Given the description of an element on the screen output the (x, y) to click on. 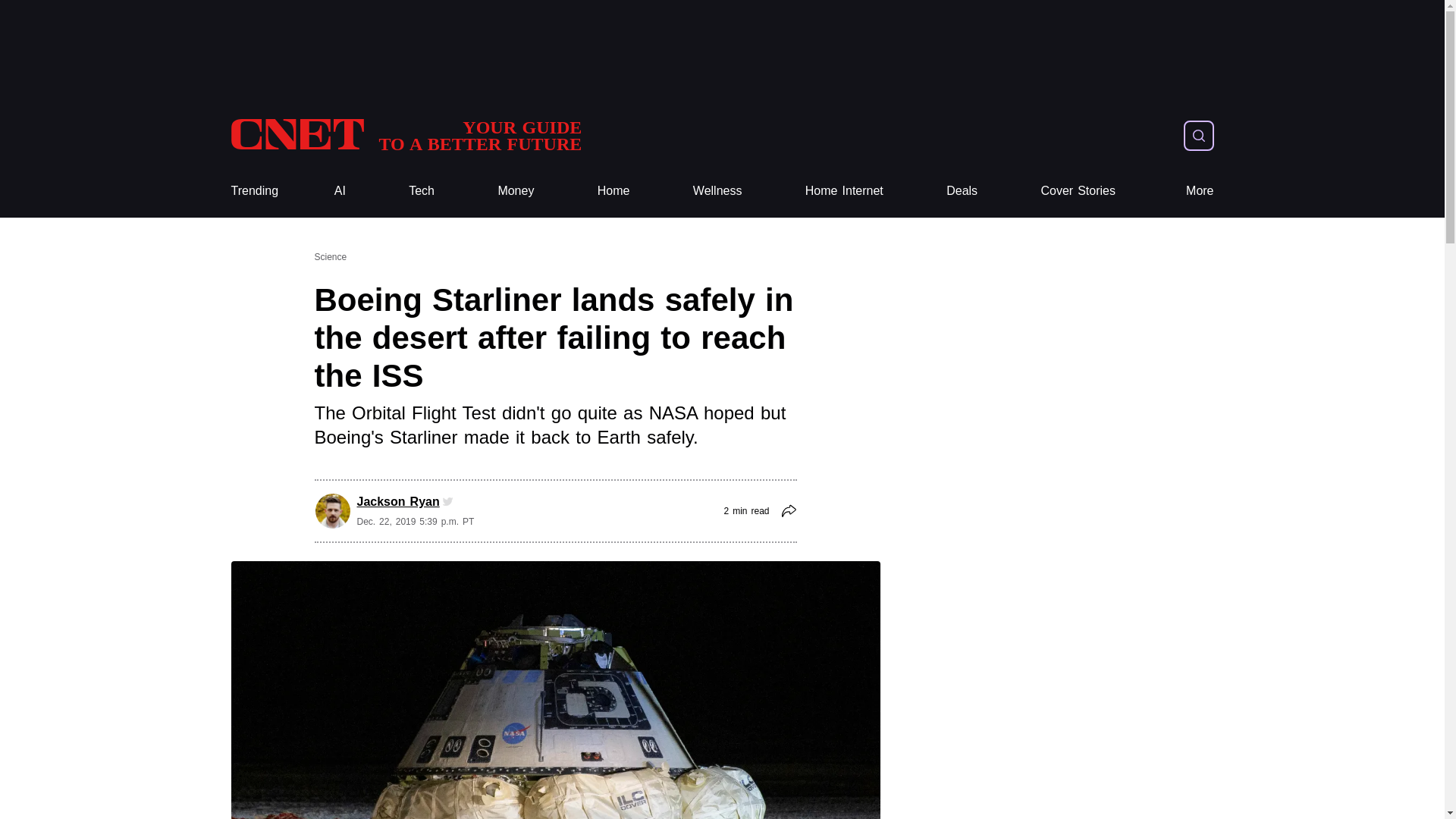
Trending (254, 190)
Wellness (717, 190)
Tech (421, 190)
Trending (254, 190)
Wellness (717, 190)
Money (515, 190)
Home (405, 135)
Tech (613, 190)
More (421, 190)
Cover Stories (1199, 190)
CNET (1078, 190)
Home Internet (405, 135)
Home Internet (844, 190)
Home (844, 190)
